Given the description of an element on the screen output the (x, y) to click on. 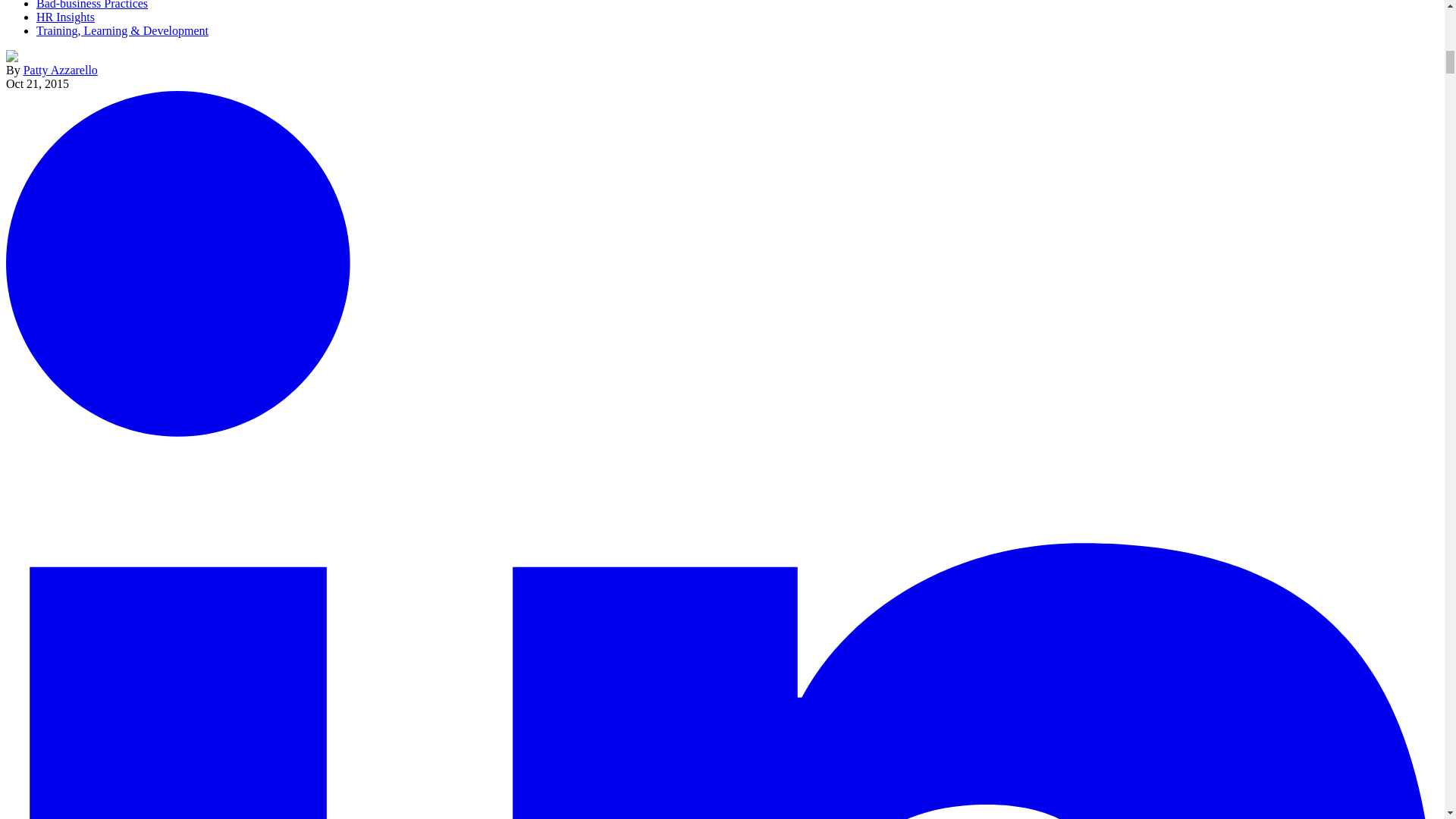
Bad-business Practices (92, 4)
Patty Azzarello (60, 69)
HR Insights (65, 16)
